Given the description of an element on the screen output the (x, y) to click on. 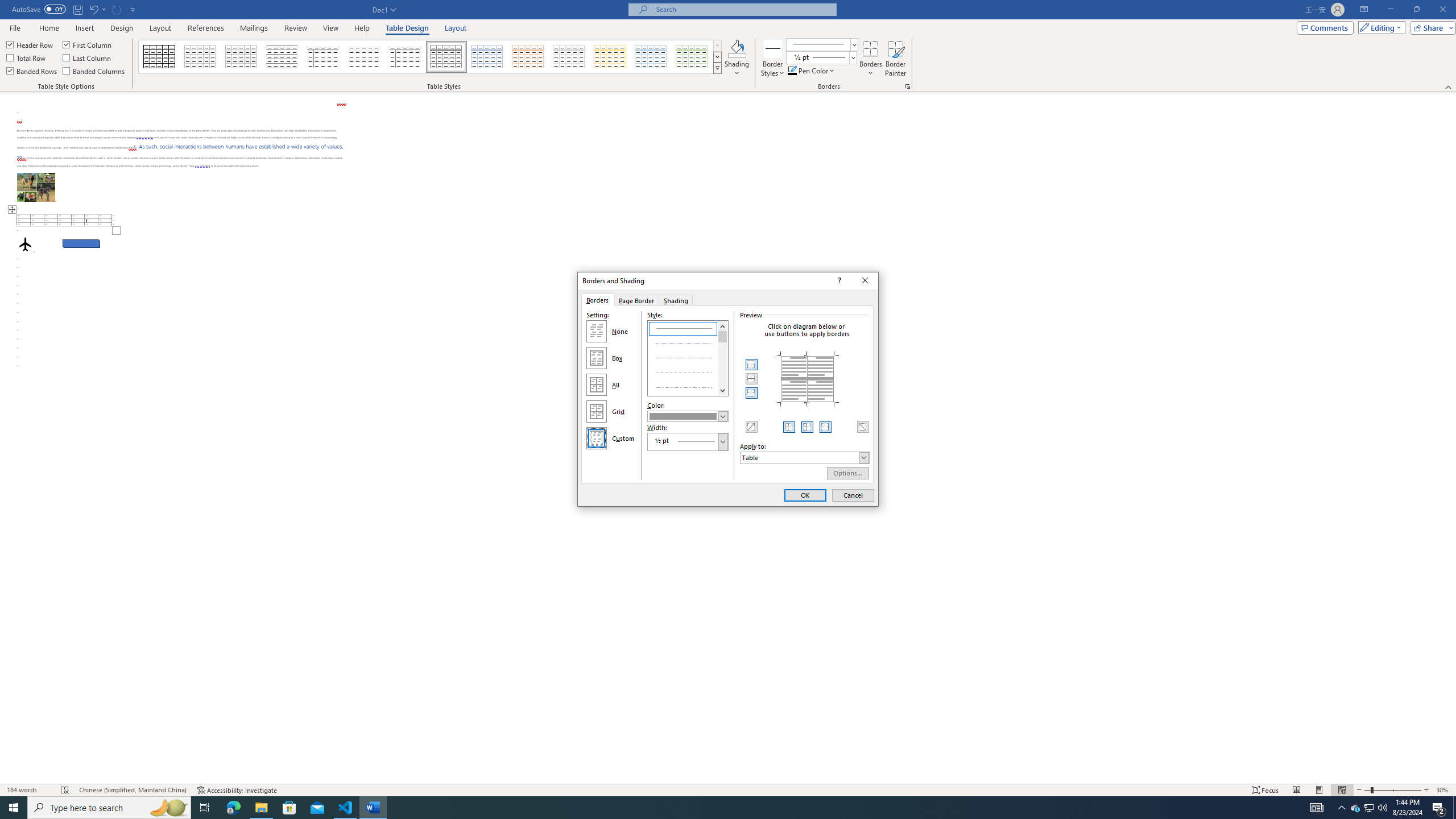
Table Styles (717, 67)
Diagonal Up Border (751, 426)
Left Border (788, 426)
User Promoted Notification Area (1368, 807)
Zoom (1392, 790)
First Column (88, 44)
Running applications (717, 807)
Rectangle: Diagonal Corners Snipped 2 (81, 243)
Grid Table 1 Light - Accent 6 (691, 56)
Banded Rows (32, 69)
Line up (722, 325)
Border Color (Text 1) (687, 415)
